Given the description of an element on the screen output the (x, y) to click on. 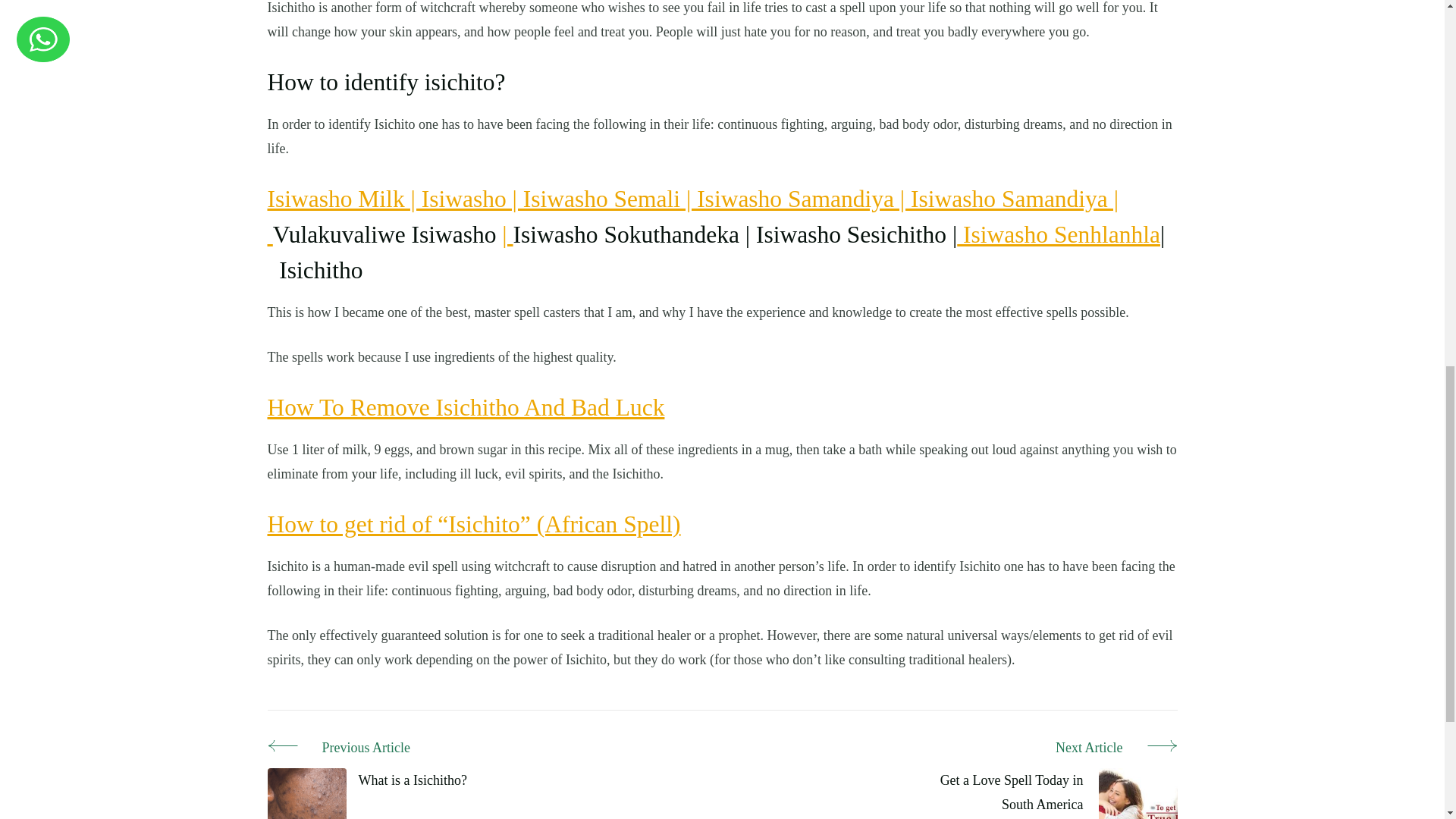
Next Article (1044, 748)
Previous Article (365, 748)
 Isiwasho Senhlanhla (1058, 234)
How To Remove Isichitho And Bad Luck (464, 406)
